Given the description of an element on the screen output the (x, y) to click on. 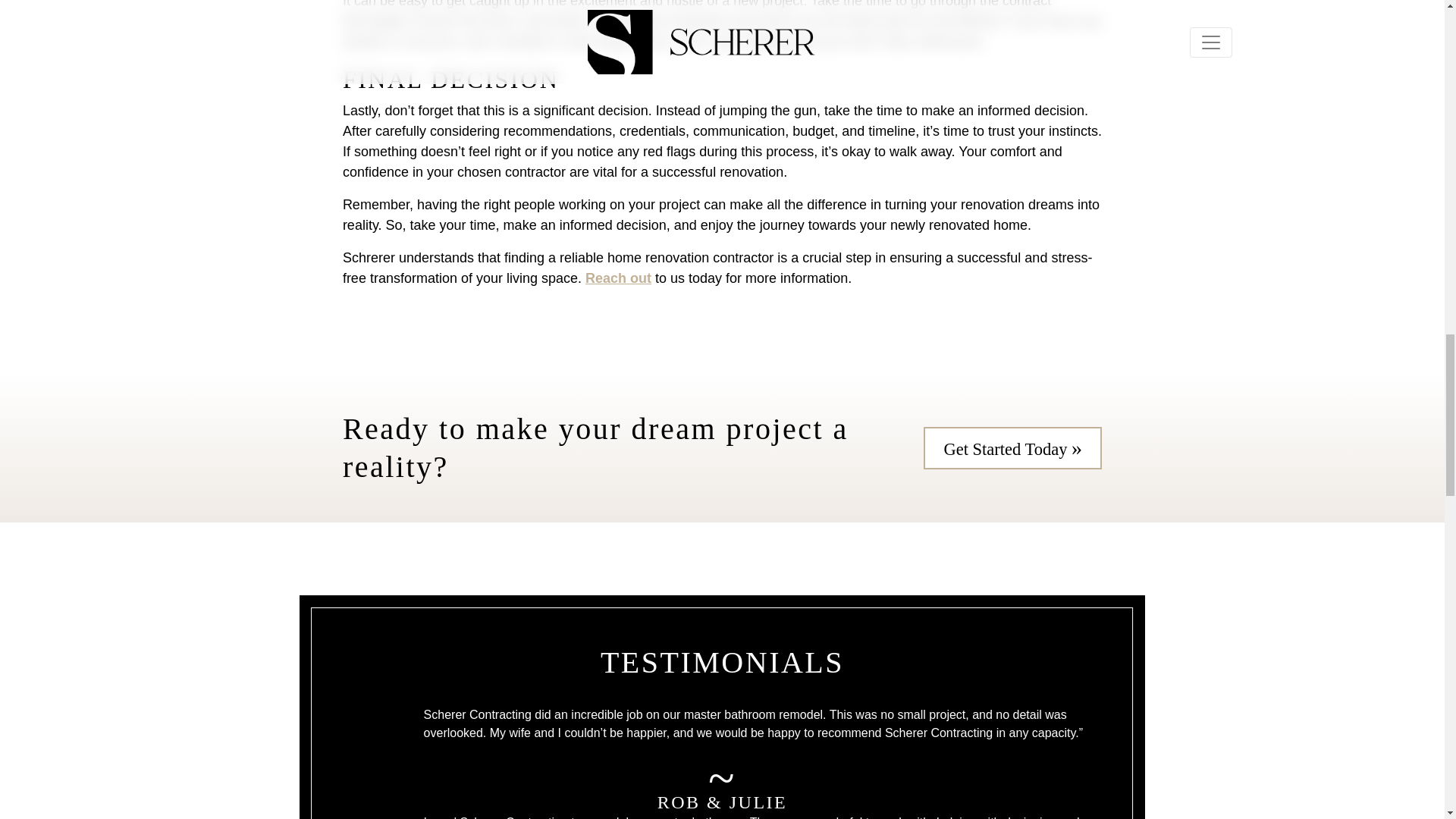
Reach out (617, 278)
Get Started Today (1012, 447)
Get Started Today (1012, 447)
